Given the description of an element on the screen output the (x, y) to click on. 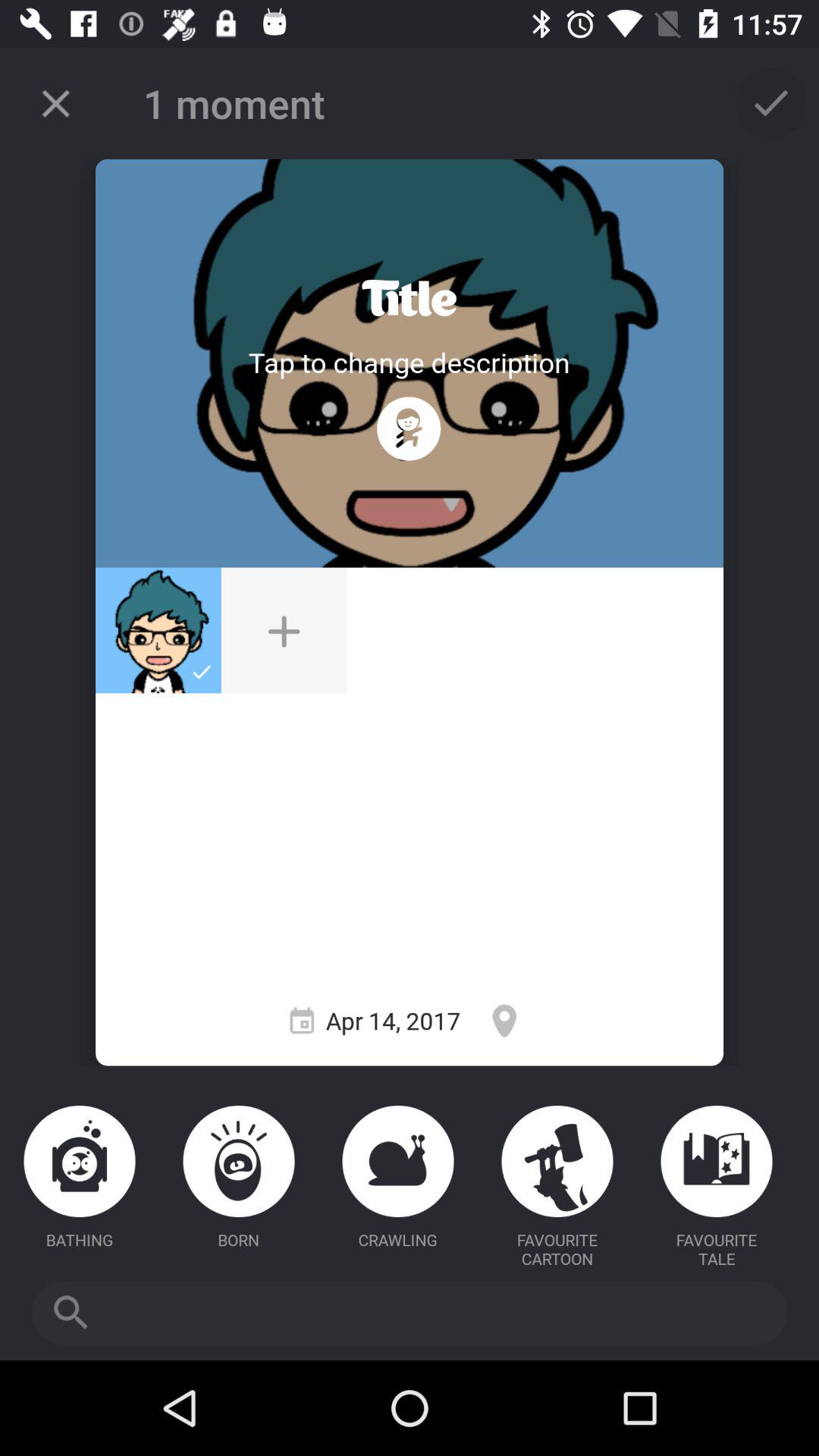
open icon at the top right corner (771, 103)
